Given the description of an element on the screen output the (x, y) to click on. 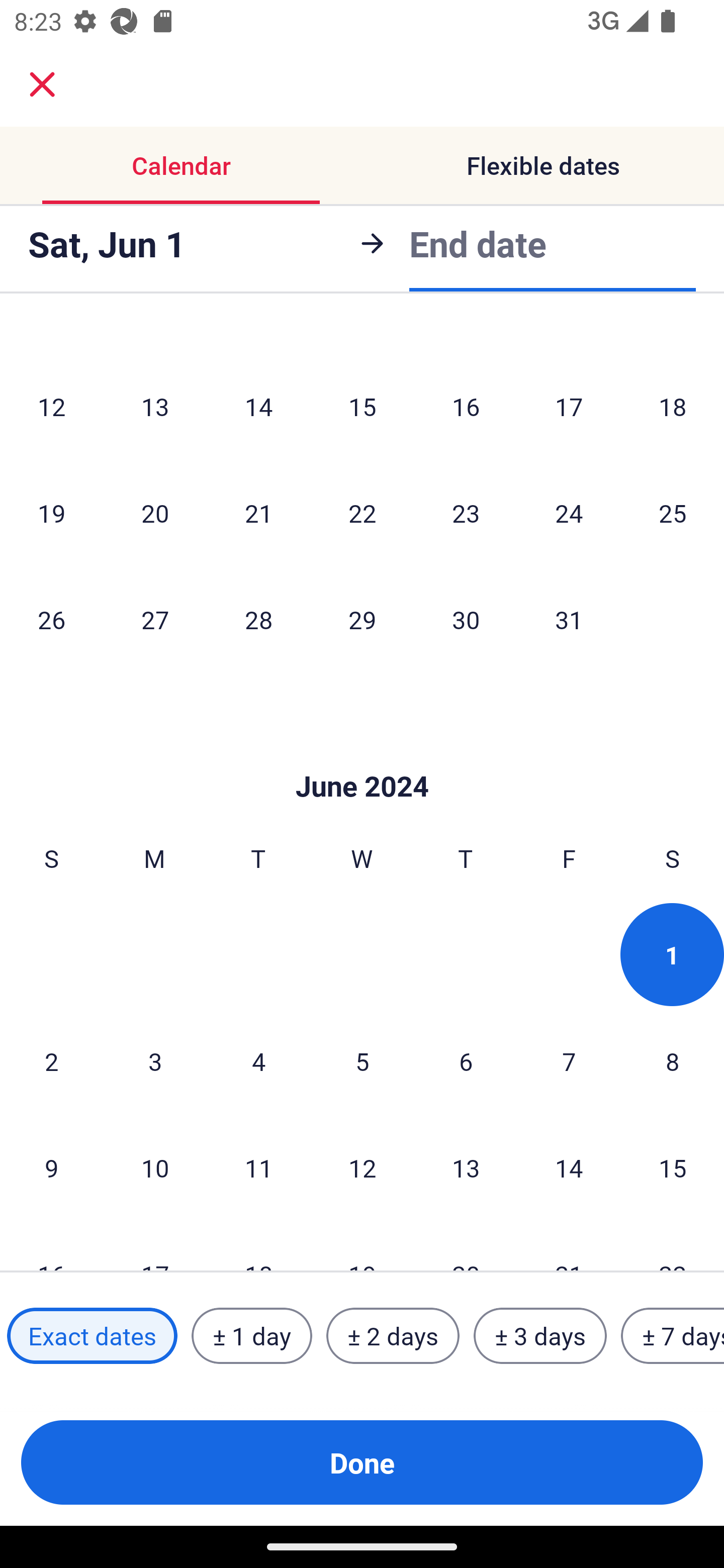
close. (42, 84)
Flexible dates (542, 164)
End date (477, 240)
12 Sunday, May 12, 2024 (51, 405)
13 Monday, May 13, 2024 (155, 405)
14 Tuesday, May 14, 2024 (258, 405)
15 Wednesday, May 15, 2024 (362, 405)
16 Thursday, May 16, 2024 (465, 405)
17 Friday, May 17, 2024 (569, 405)
18 Saturday, May 18, 2024 (672, 405)
19 Sunday, May 19, 2024 (51, 512)
20 Monday, May 20, 2024 (155, 512)
21 Tuesday, May 21, 2024 (258, 512)
22 Wednesday, May 22, 2024 (362, 512)
23 Thursday, May 23, 2024 (465, 512)
24 Friday, May 24, 2024 (569, 512)
25 Saturday, May 25, 2024 (672, 512)
26 Sunday, May 26, 2024 (51, 619)
27 Monday, May 27, 2024 (155, 619)
28 Tuesday, May 28, 2024 (258, 619)
29 Wednesday, May 29, 2024 (362, 619)
30 Thursday, May 30, 2024 (465, 619)
31 Friday, May 31, 2024 (569, 619)
Skip to Done (362, 755)
2 Sunday, June 2, 2024 (51, 1061)
3 Monday, June 3, 2024 (155, 1061)
4 Tuesday, June 4, 2024 (258, 1061)
5 Wednesday, June 5, 2024 (362, 1061)
6 Thursday, June 6, 2024 (465, 1061)
7 Friday, June 7, 2024 (569, 1061)
8 Saturday, June 8, 2024 (672, 1061)
9 Sunday, June 9, 2024 (51, 1167)
10 Monday, June 10, 2024 (155, 1167)
11 Tuesday, June 11, 2024 (258, 1167)
12 Wednesday, June 12, 2024 (362, 1167)
13 Thursday, June 13, 2024 (465, 1167)
14 Friday, June 14, 2024 (569, 1167)
15 Saturday, June 15, 2024 (672, 1167)
Exact dates (92, 1335)
± 1 day (251, 1335)
± 2 days (392, 1335)
± 3 days (539, 1335)
± 7 days (672, 1335)
Done (361, 1462)
